Given the description of an element on the screen output the (x, y) to click on. 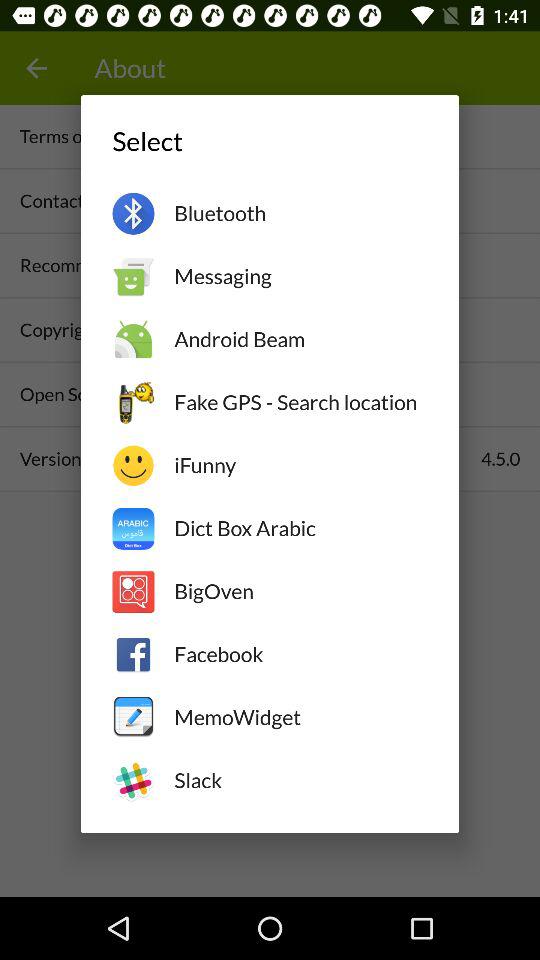
turn on item below the memowidget (300, 780)
